Given the description of an element on the screen output the (x, y) to click on. 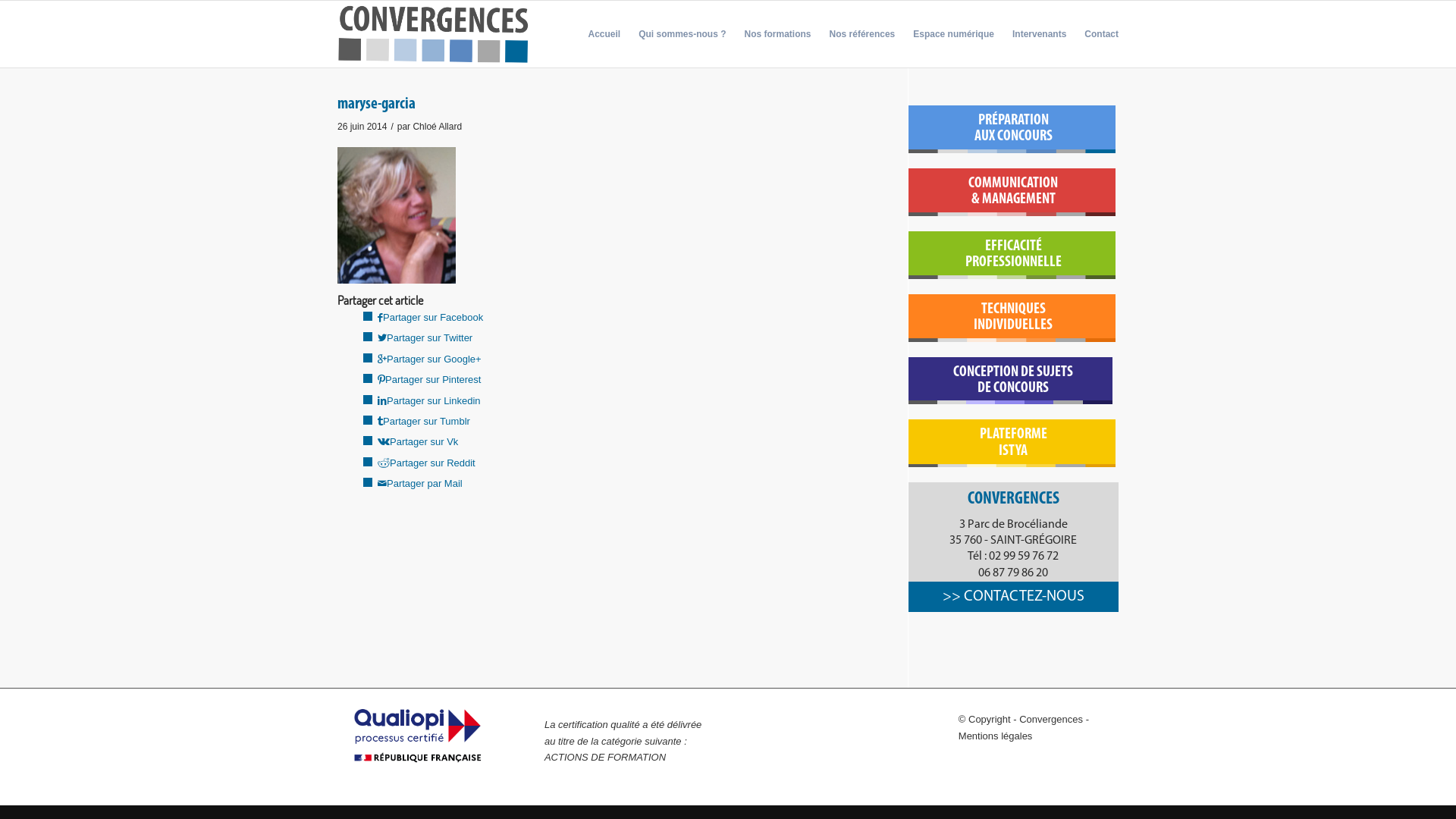
COMMUNICATION
& MANAGEMENT Element type: text (1013, 192)
Partager sur Reddit Element type: text (426, 462)
Partager sur Vk Element type: text (417, 441)
CONCEPTION DE SUJETS
DE CONCOURS Element type: text (1013, 380)
PLATEFORME
ISTYA Element type: text (1013, 443)
Partager sur Twitter Element type: text (424, 337)
Nos formations Element type: text (777, 33)
Accueil Element type: text (603, 33)
Qui sommes-nous ? Element type: text (681, 33)
Partager sur Tumblr Element type: text (423, 420)
Partager sur Facebook Element type: text (430, 317)
TECHNIQUES
INDIVIDUELLES Element type: text (1013, 318)
Intervenants Element type: text (1039, 33)
Partager sur Pinterest Element type: text (428, 379)
Partager par Mail Element type: text (419, 483)
>> CONTACTEZ-NOUS Element type: text (1013, 596)
Partager sur Google+ Element type: text (429, 358)
maryse-garcia Element type: text (376, 104)
Partager sur Linkedin Element type: text (428, 400)
Contact Element type: text (1096, 33)
